Given the description of an element on the screen output the (x, y) to click on. 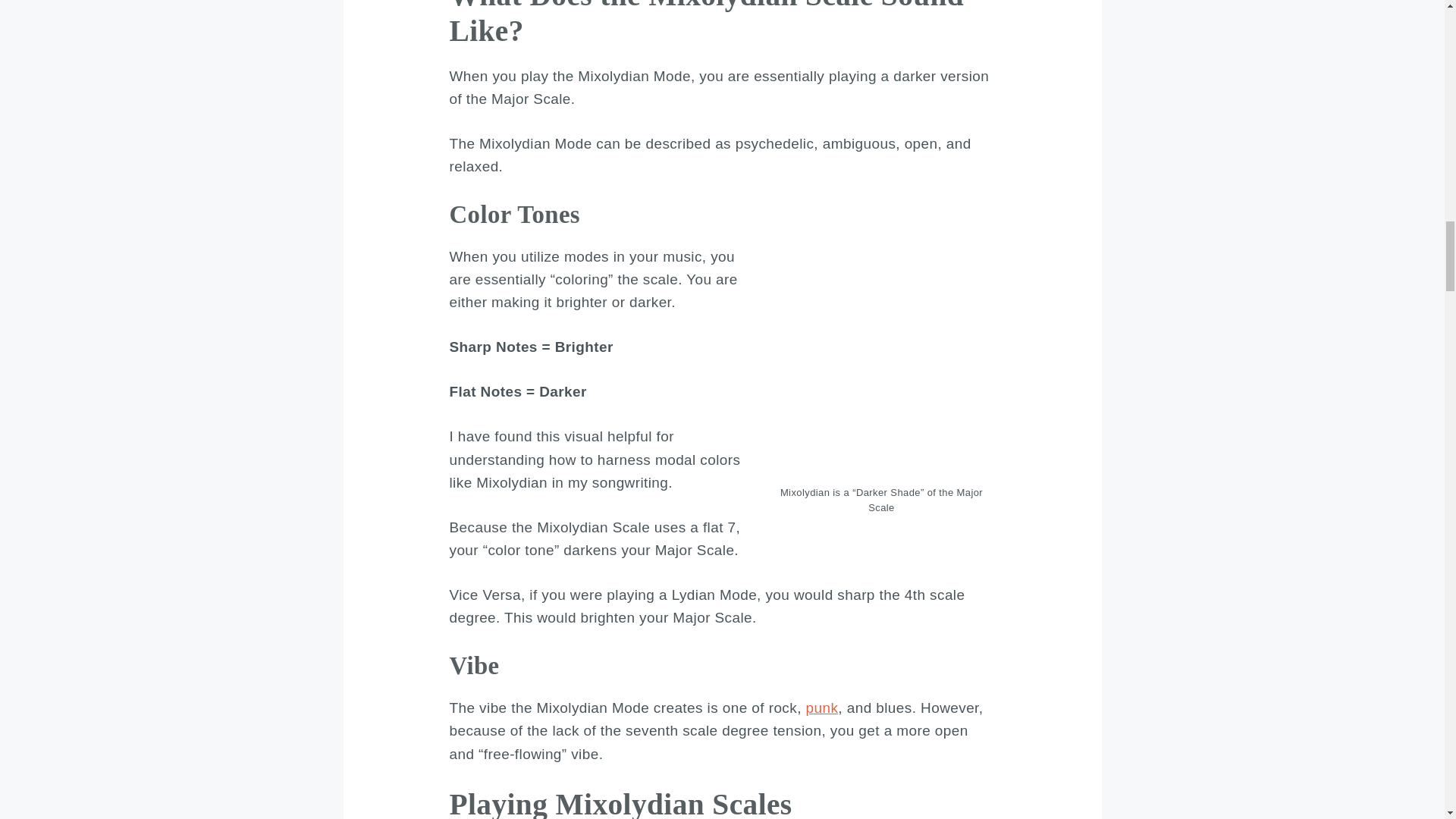
punk (822, 707)
